Given the description of an element on the screen output the (x, y) to click on. 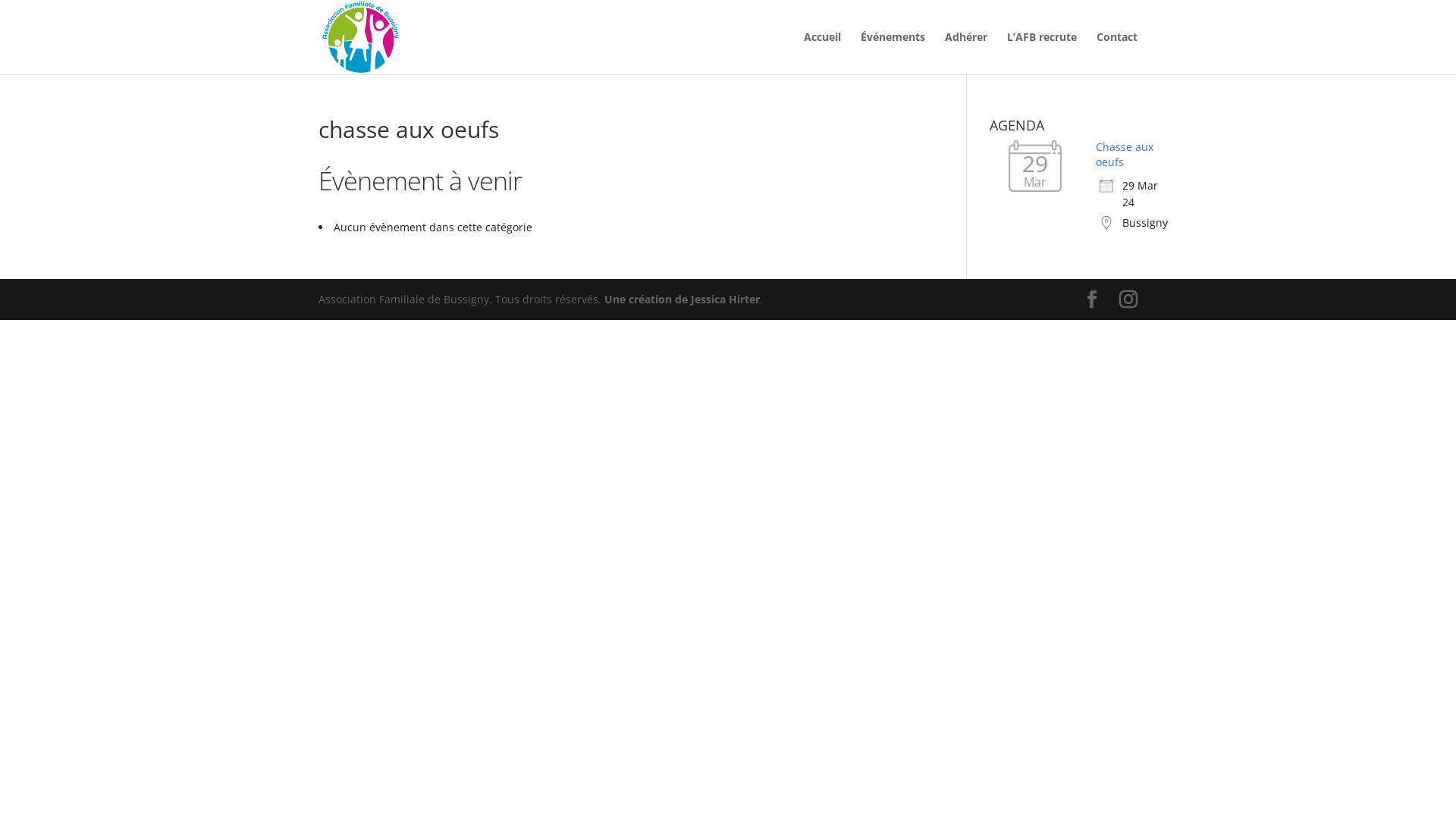
Contact Element type: text (1116, 52)
Chasse aux oeufs Element type: text (1124, 154)
Accueil Element type: text (821, 52)
